Given the description of an element on the screen output the (x, y) to click on. 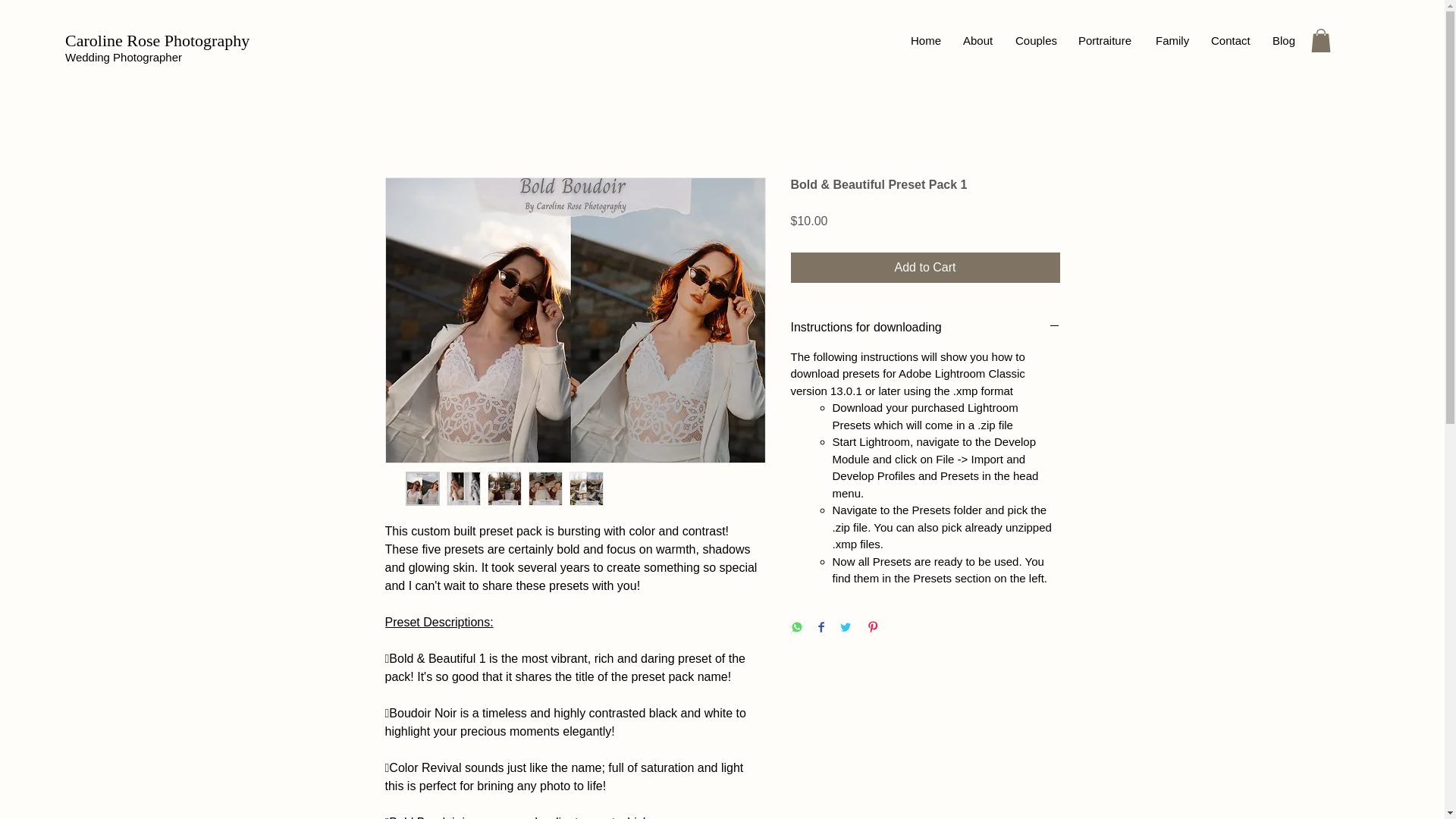
Wedding Photographer (123, 56)
Add to Cart (924, 267)
Home (925, 40)
Portraiture (1105, 40)
Contact (1229, 40)
Instructions for downloading (924, 327)
Caroline Rose Photography  (159, 40)
Couples (1035, 40)
Blog (1283, 40)
About (978, 40)
